Given the description of an element on the screen output the (x, y) to click on. 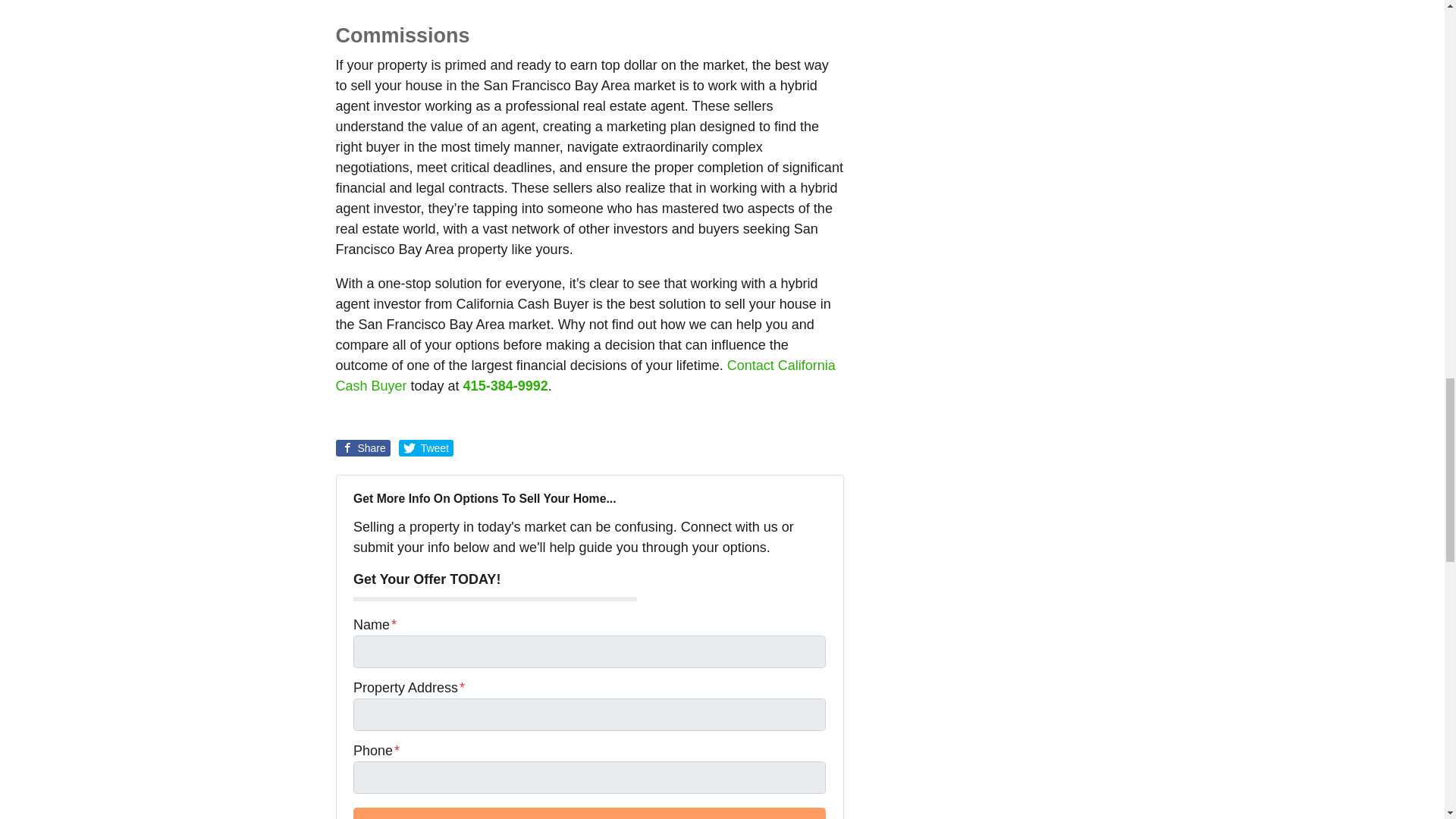
Tweet (425, 447)
Share on Twitter (425, 447)
Share on Facebook (362, 447)
415-384-9992 (505, 385)
Contact California Cash Buyer (584, 375)
Share (362, 447)
